Given the description of an element on the screen output the (x, y) to click on. 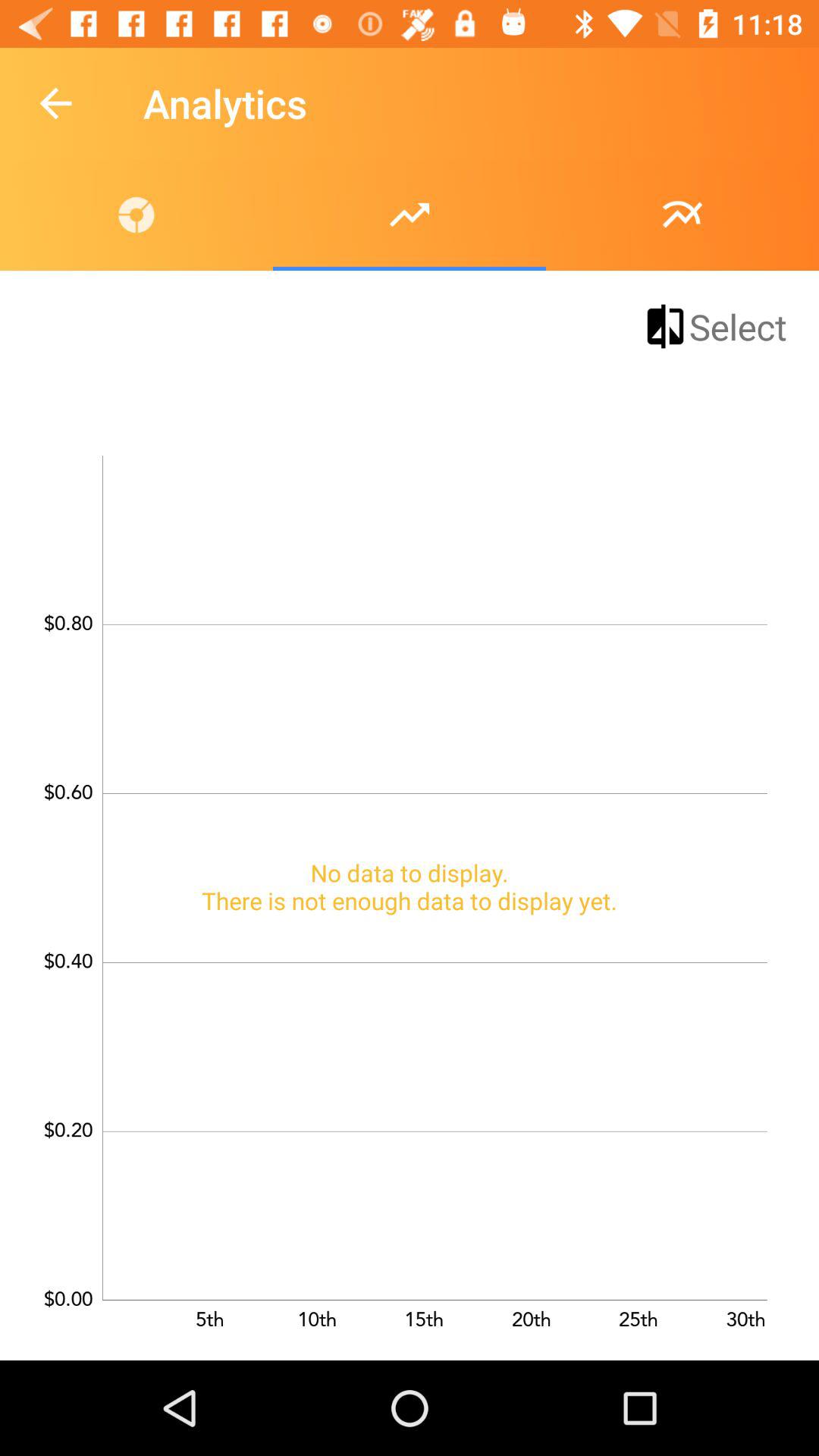
select the item to the left of the analytics item (55, 103)
